Given the description of an element on the screen output the (x, y) to click on. 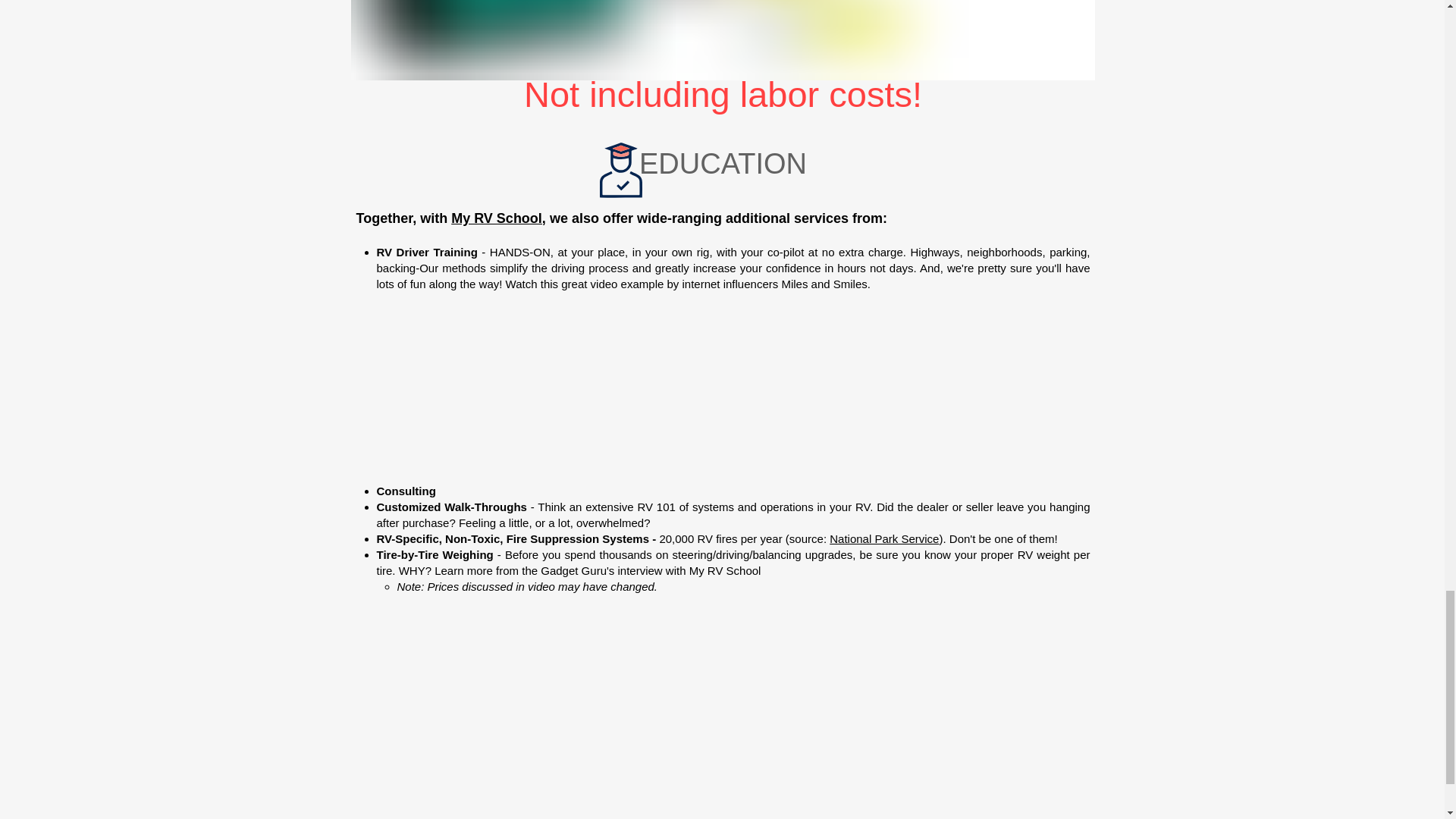
National Park Service (884, 538)
My RV School, (498, 218)
